Given the description of an element on the screen output the (x, y) to click on. 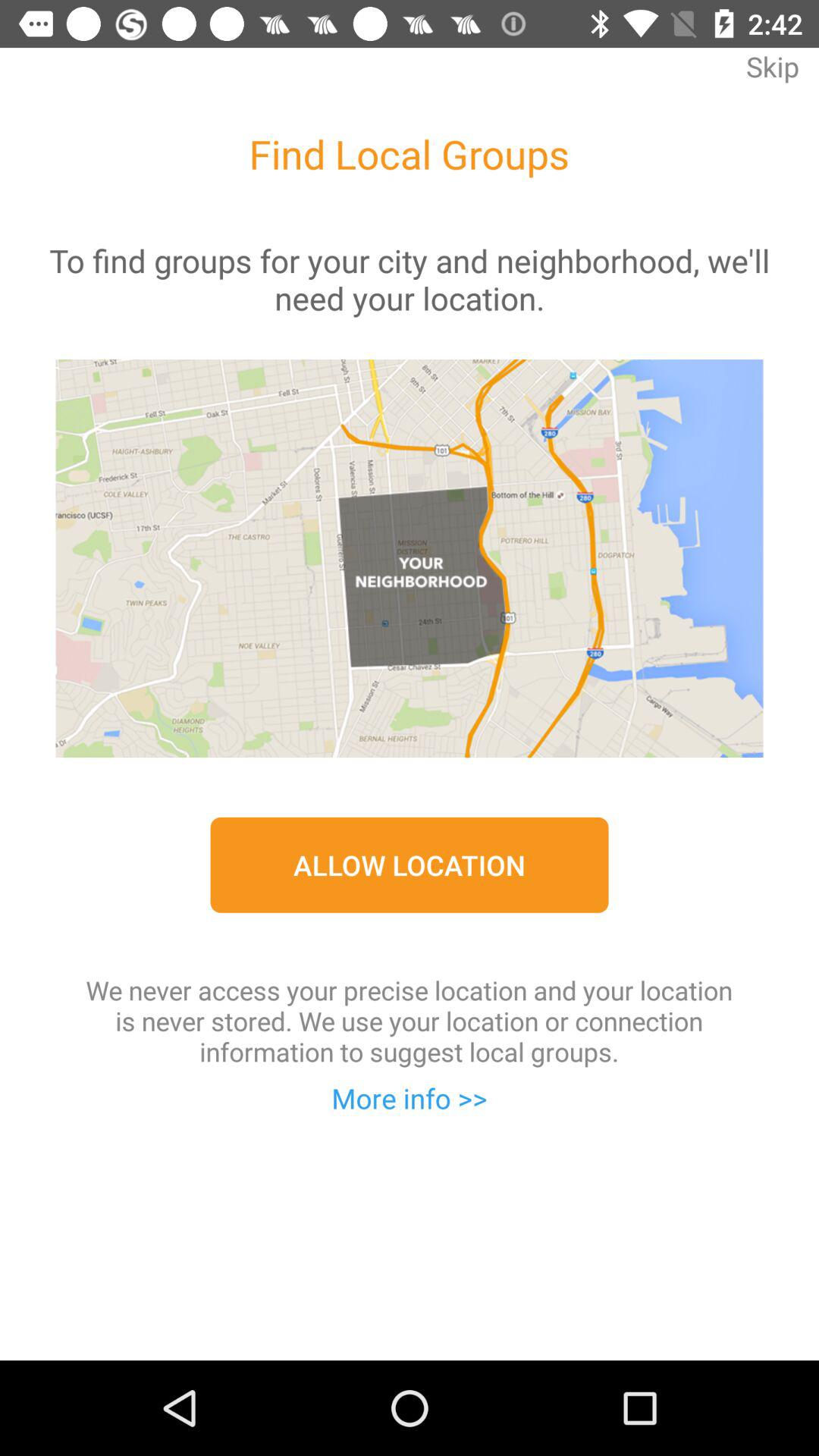
select more info >> item (409, 1098)
